Given the description of an element on the screen output the (x, y) to click on. 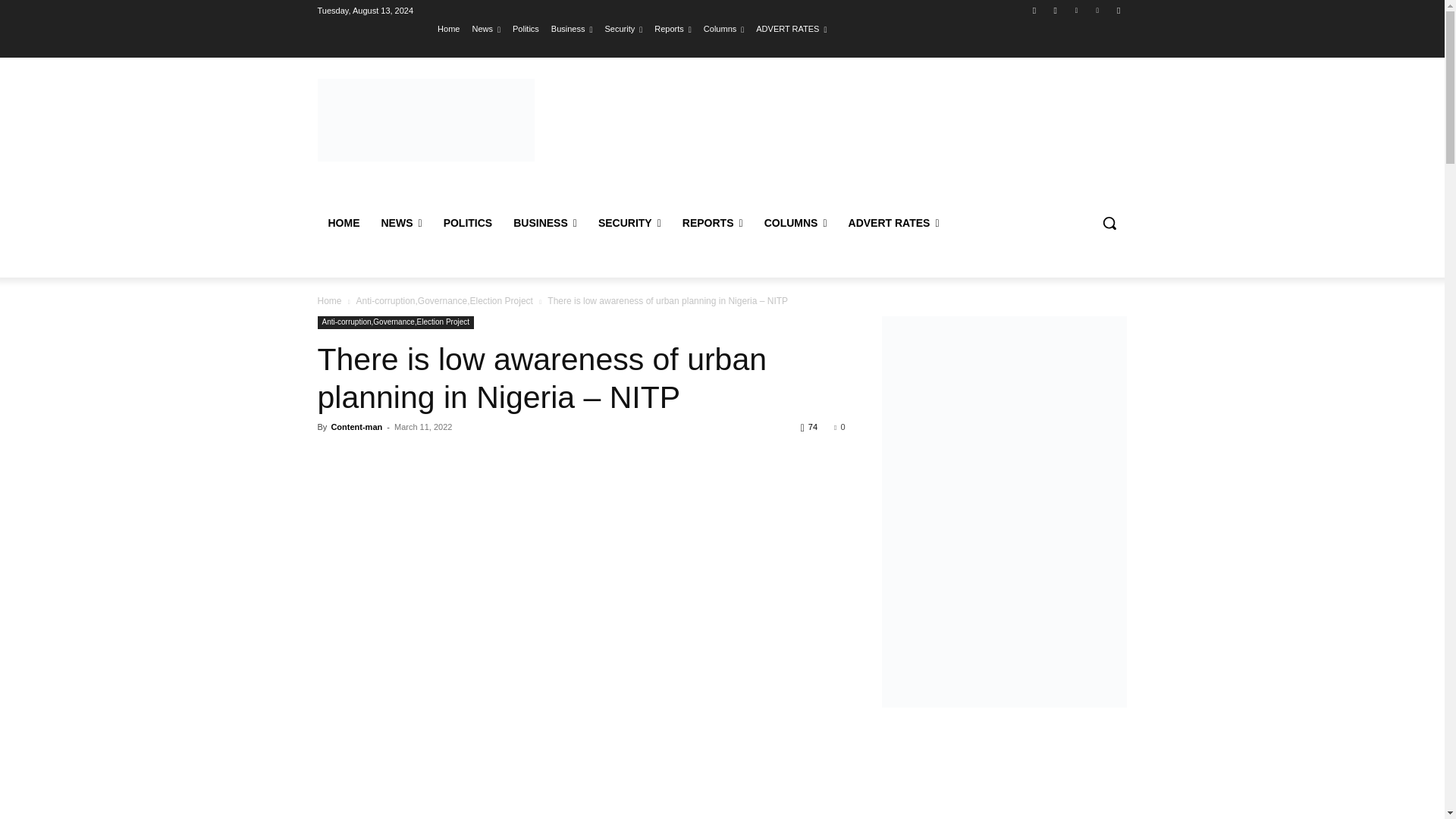
Facebook (1034, 9)
Youtube (1117, 9)
Instagram (1055, 9)
Vimeo (1097, 9)
Twitter (1075, 9)
